Given the description of an element on the screen output the (x, y) to click on. 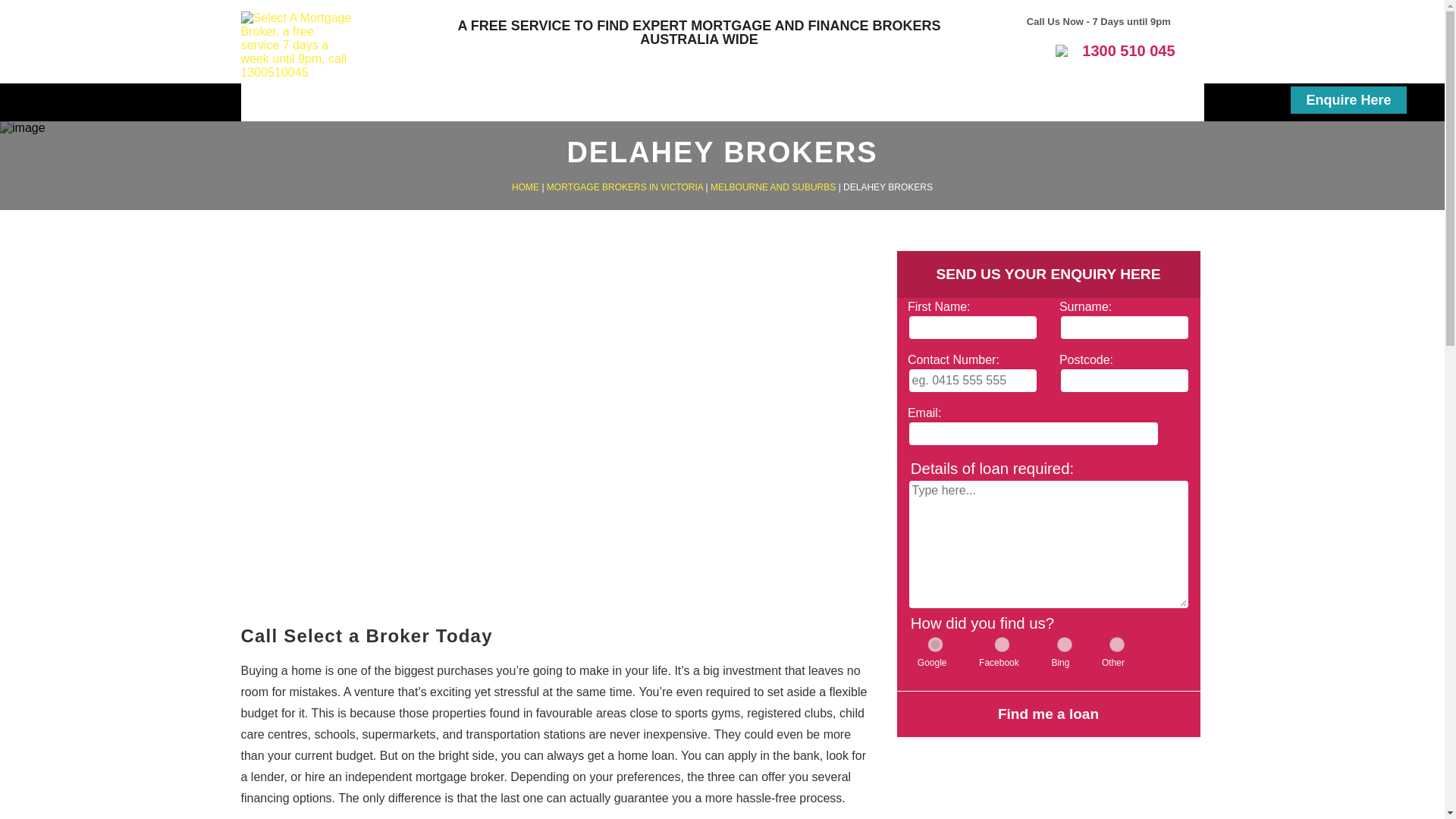
Find me a loan (1047, 714)
Facebook (1001, 644)
1300 510 045 (1115, 50)
Other (1117, 644)
FOR A MORTGAGE BROKER CALL TOLL FREE 1300 510 045 (699, 36)
Google (935, 644)
Bing (1064, 644)
logo of SelectAMortgageBroker - Select A Mortgage Broker (298, 45)
